Given the description of an element on the screen output the (x, y) to click on. 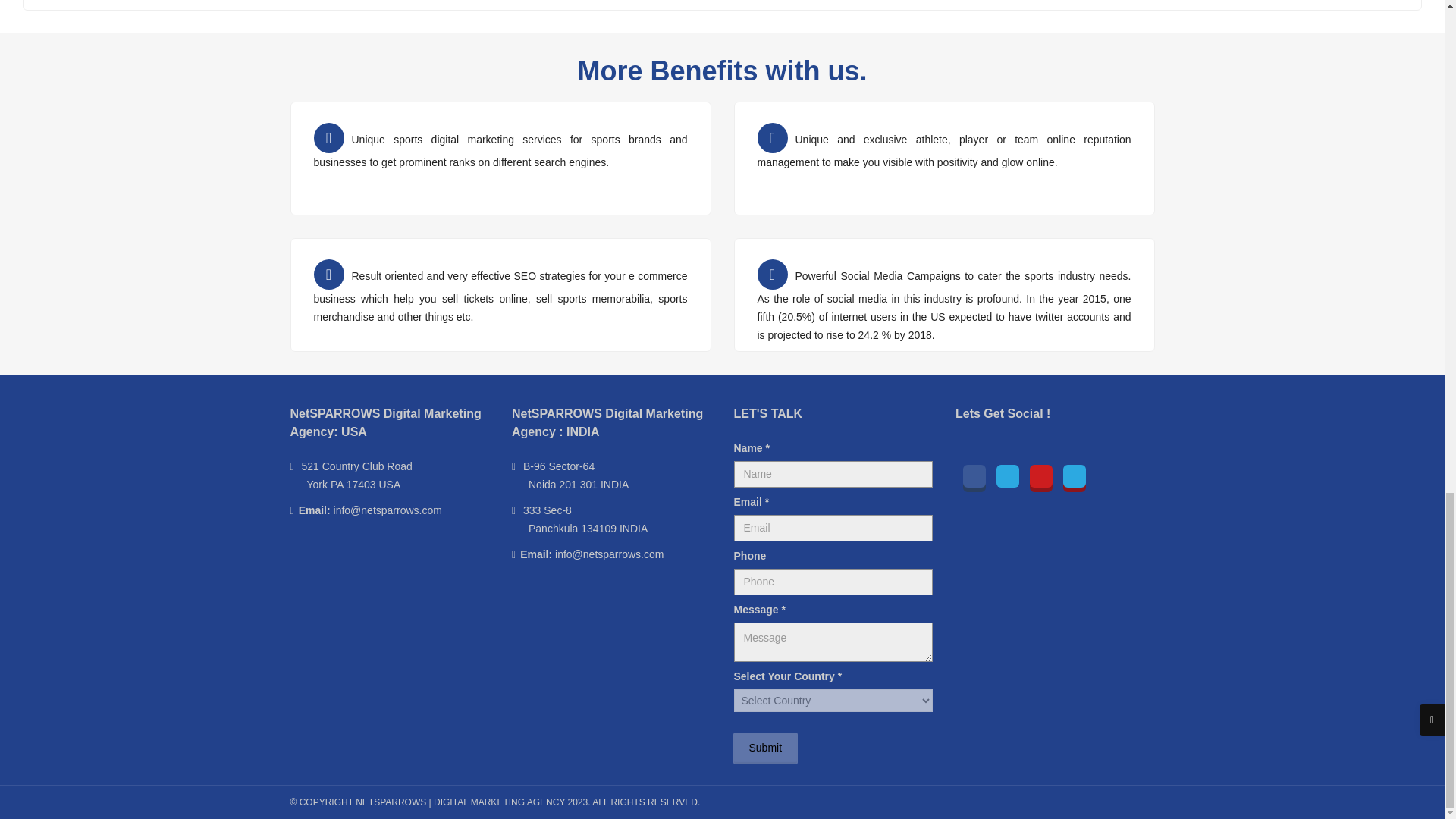
Submit (764, 748)
Pinterest (1040, 476)
Instagram (1074, 476)
Facebook (973, 476)
Submit (764, 748)
Twitter (1007, 476)
